Given the description of an element on the screen output the (x, y) to click on. 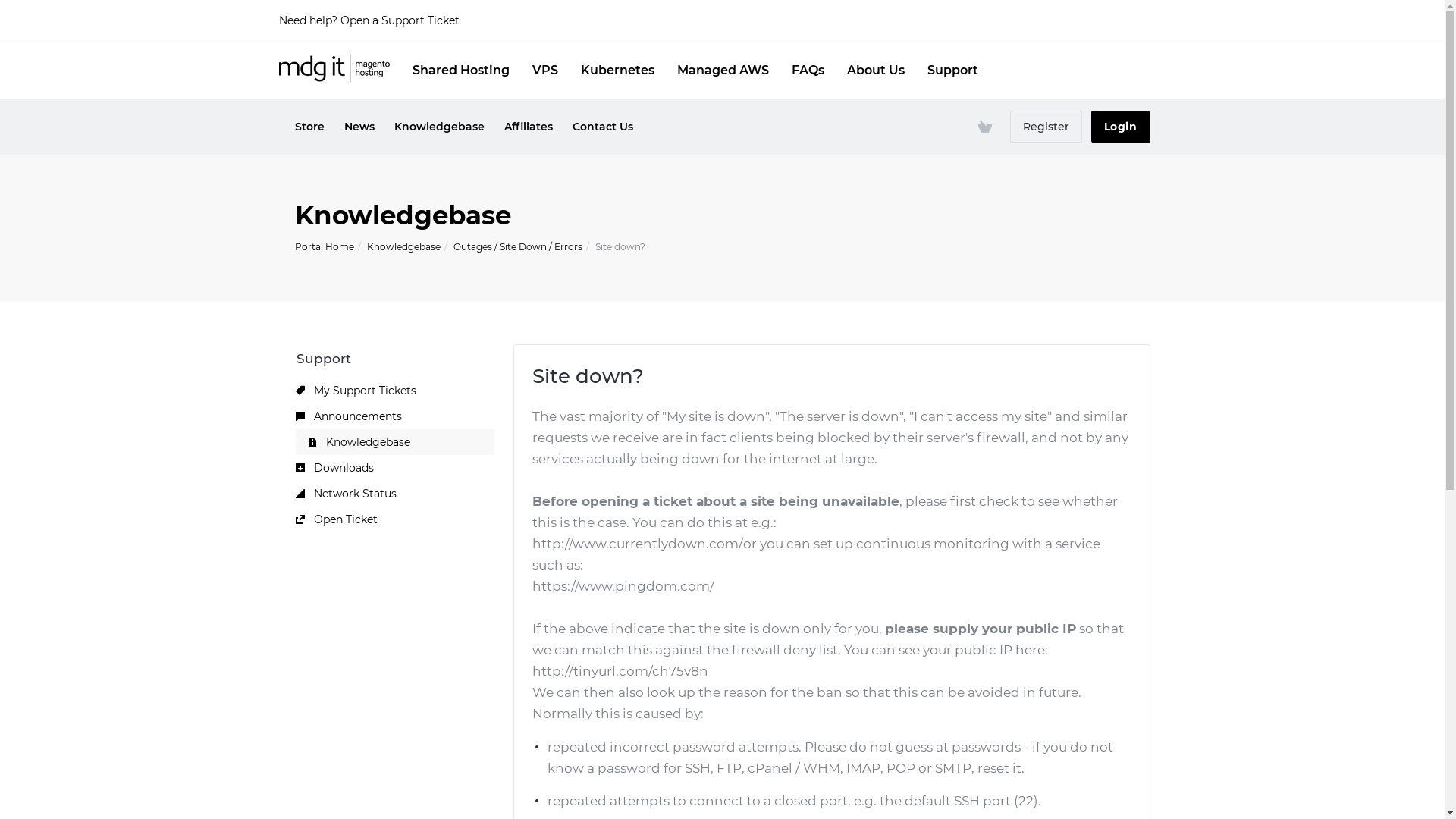
http://tinyurl.com/ch75v8n Element type: text (620, 670)
Contact Us Element type: text (602, 126)
Login Element type: text (1119, 126)
Managed AWS Element type: text (722, 70)
Network Status Element type: text (394, 493)
Register Element type: text (1046, 126)
VPS Element type: text (545, 70)
Support Ticket Element type: text (419, 20)
Store Element type: text (309, 126)
FAQs Element type: text (807, 70)
Knowledgebase Element type: text (403, 247)
My Support Tickets Element type: text (394, 390)
Kubernetes Element type: text (617, 70)
Knowledgebase Element type: text (438, 126)
Support Element type: text (951, 70)
Portal Home Element type: text (323, 247)
http://www.currentlydown.com/ Element type: text (637, 543)
Open Ticket Element type: text (394, 519)
Knowledgebase Element type: text (394, 442)
Shared Hosting Element type: text (460, 70)
https://www.pingdom.com/ Element type: text (623, 585)
Announcements Element type: text (394, 416)
Affiliates Element type: text (528, 126)
Downloads Element type: text (394, 467)
News Element type: text (358, 126)
About Us Element type: text (874, 70)
Outages / Site Down / Errors Element type: text (517, 247)
